Given the description of an element on the screen output the (x, y) to click on. 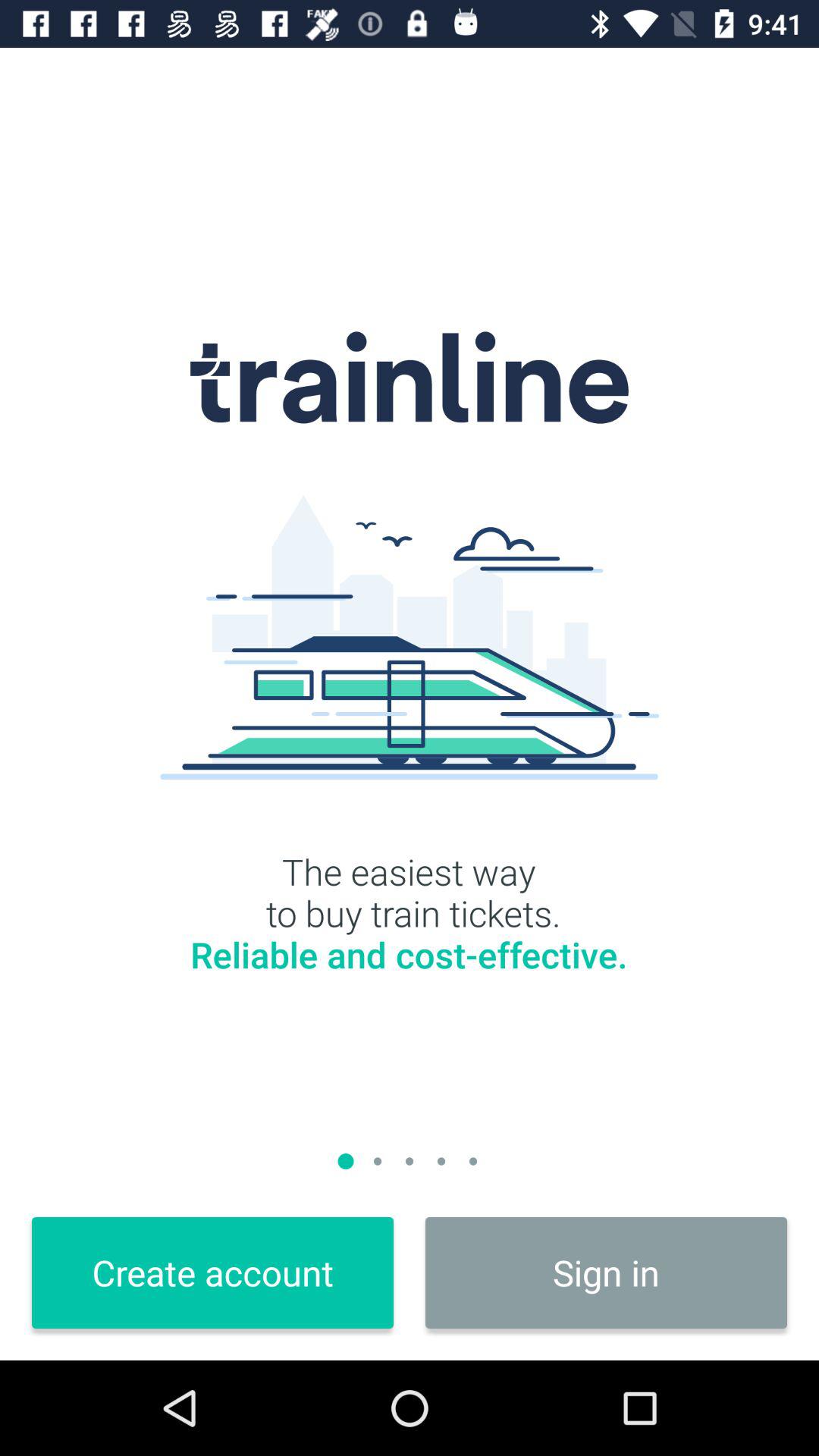
choose the sign in (606, 1272)
